Given the description of an element on the screen output the (x, y) to click on. 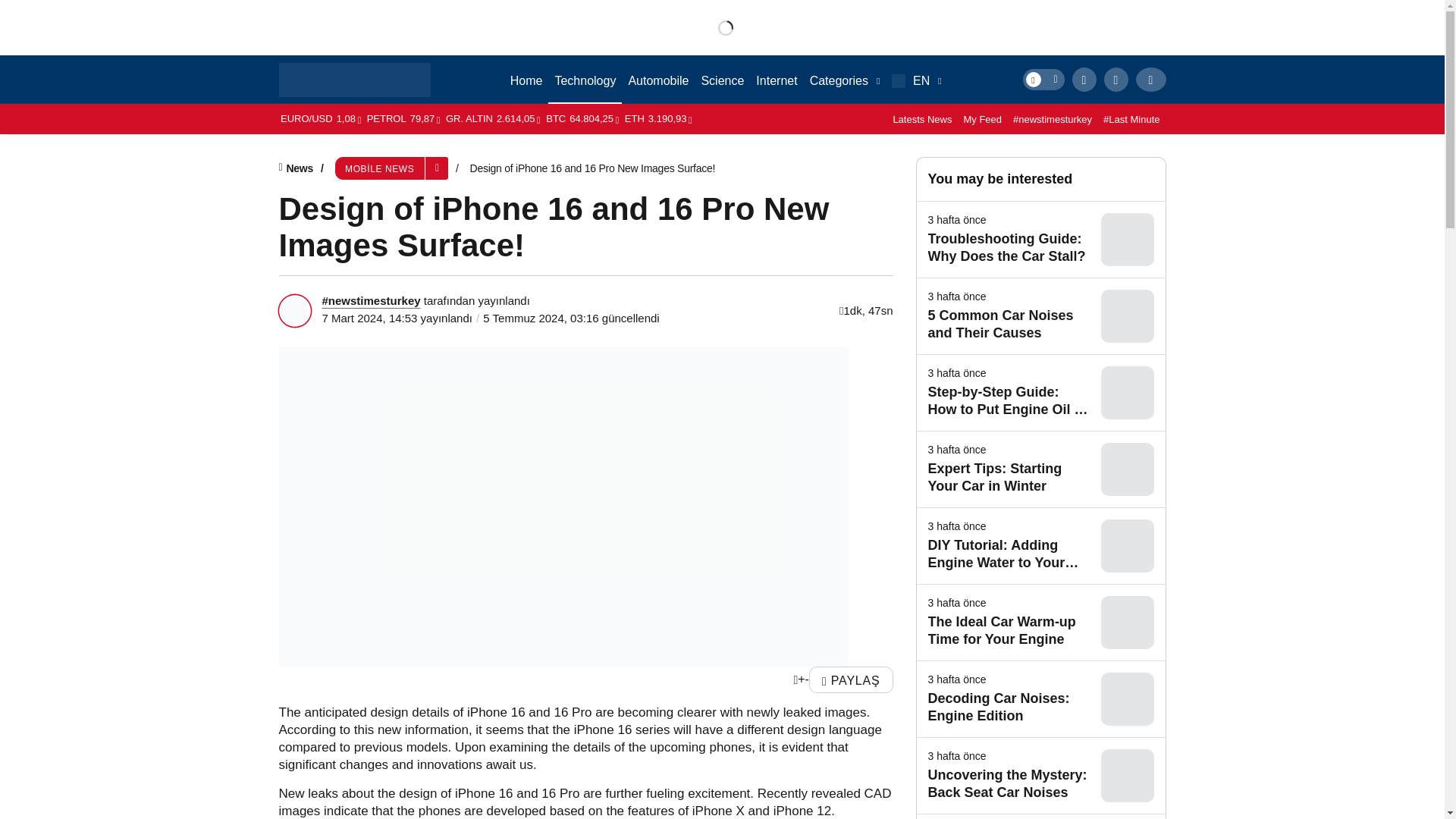
EN (916, 79)
Home (525, 79)
New (844, 79)
Science (721, 79)
Technology (584, 79)
Automobile (657, 79)
Internet (776, 79)
Categories (844, 79)
